Given the description of an element on the screen output the (x, y) to click on. 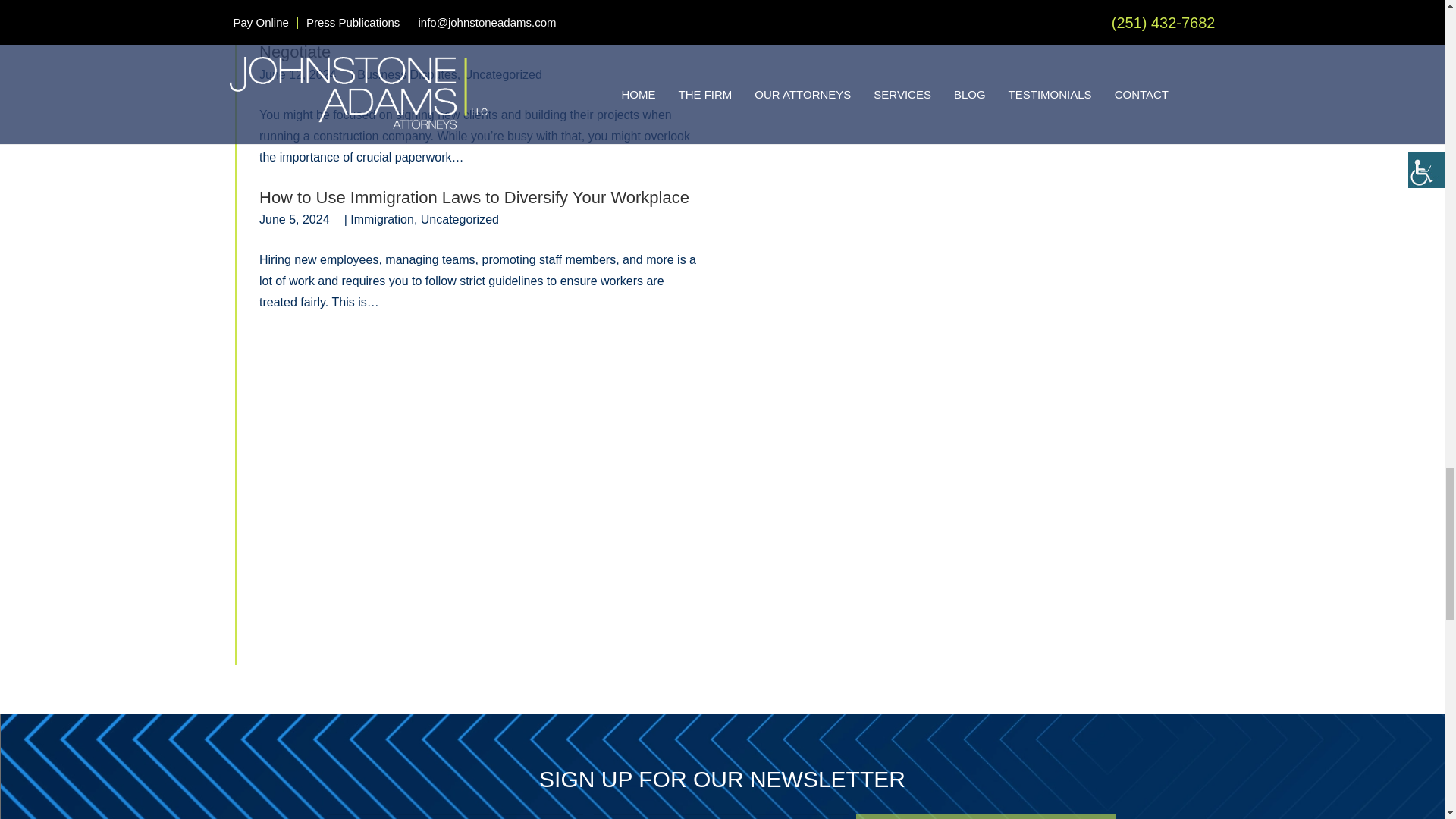
SIGN UP (986, 816)
